Given the description of an element on the screen output the (x, y) to click on. 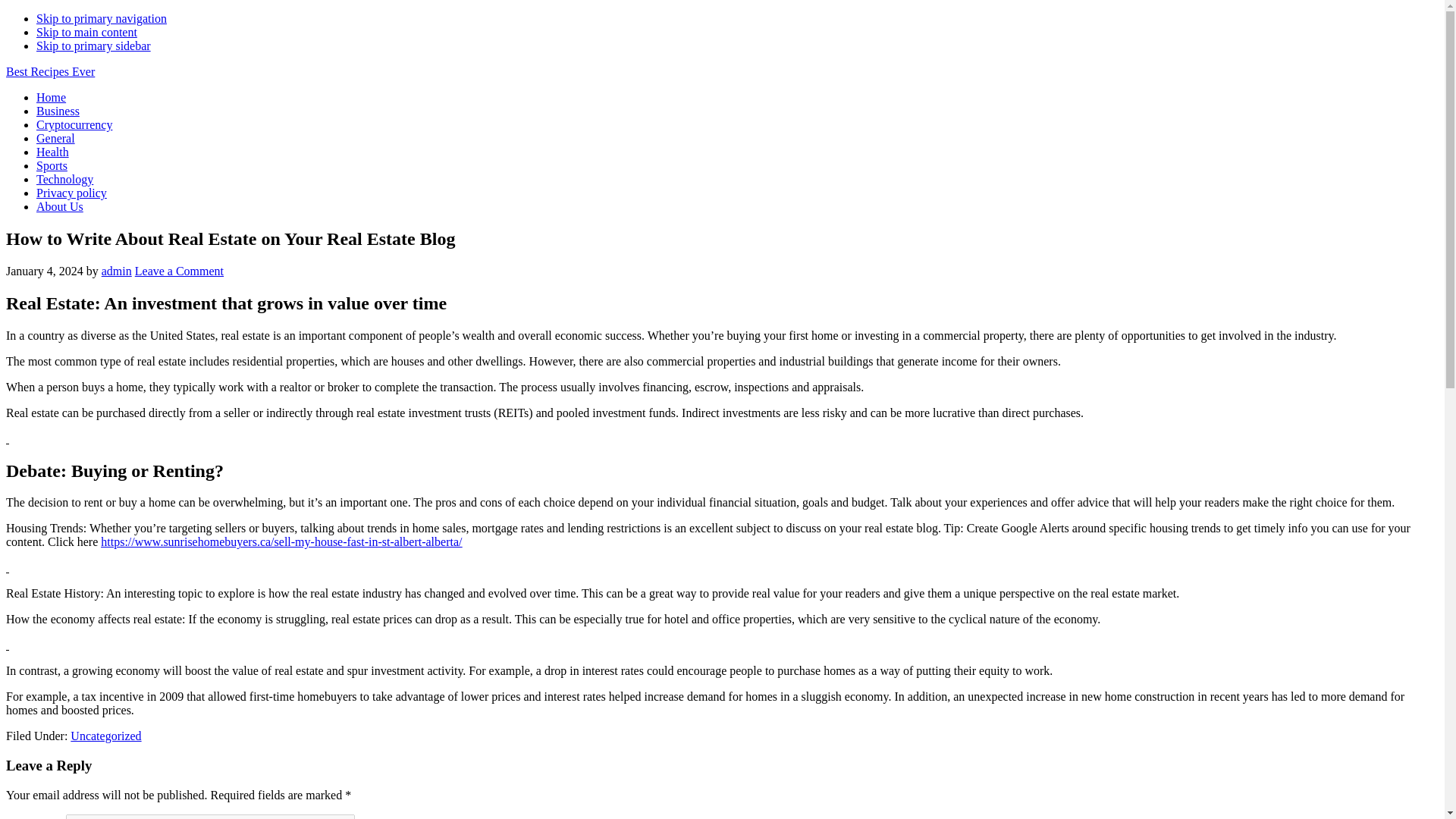
About Us (59, 205)
Business (58, 110)
General (55, 137)
Skip to primary navigation (101, 18)
Cryptocurrency (74, 124)
Leave a Comment (179, 270)
Uncategorized (105, 735)
Home (50, 97)
Skip to main content (86, 31)
Skip to primary sidebar (93, 45)
